Given the description of an element on the screen output the (x, y) to click on. 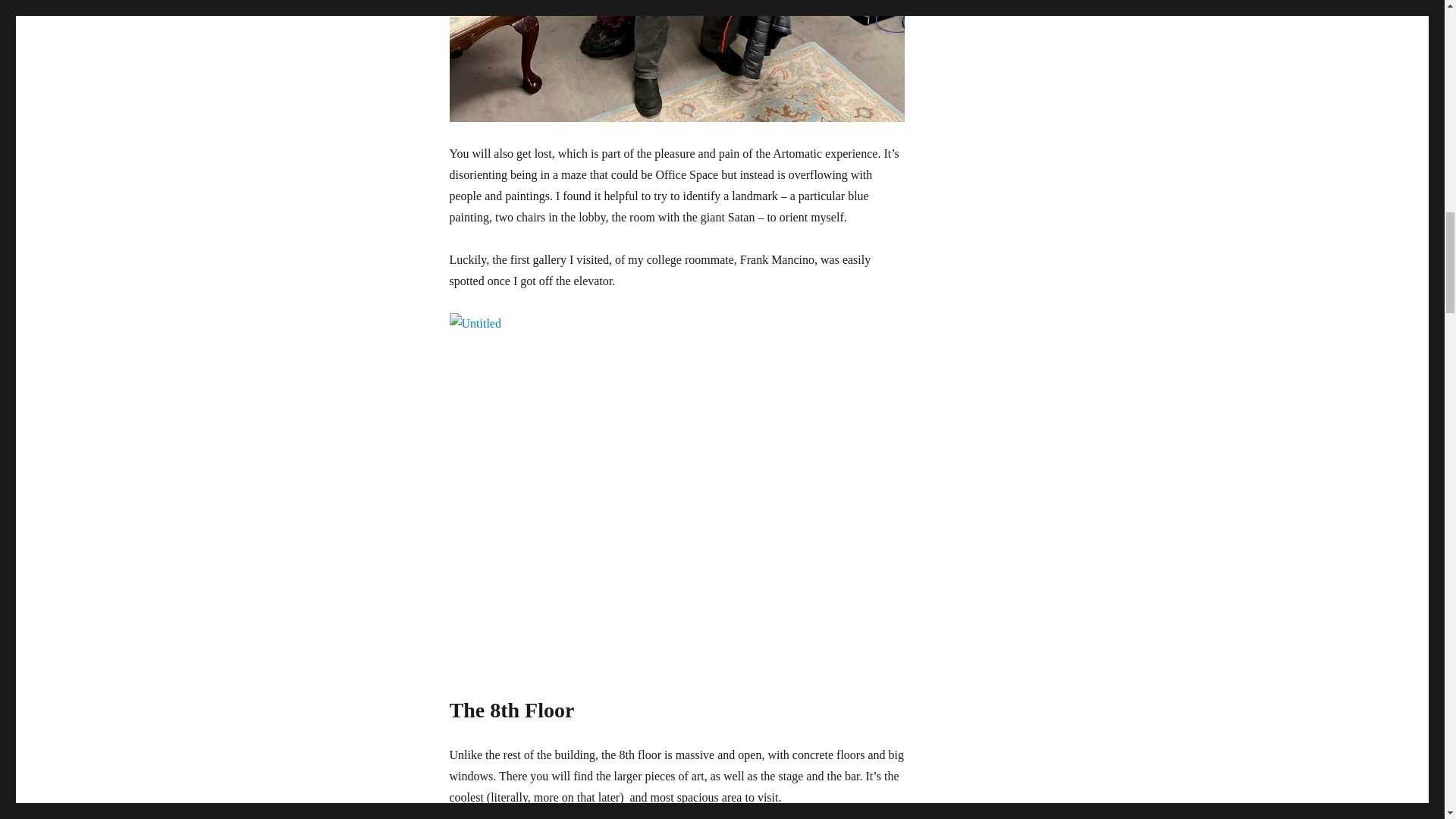
Untitled (676, 61)
